Given the description of an element on the screen output the (x, y) to click on. 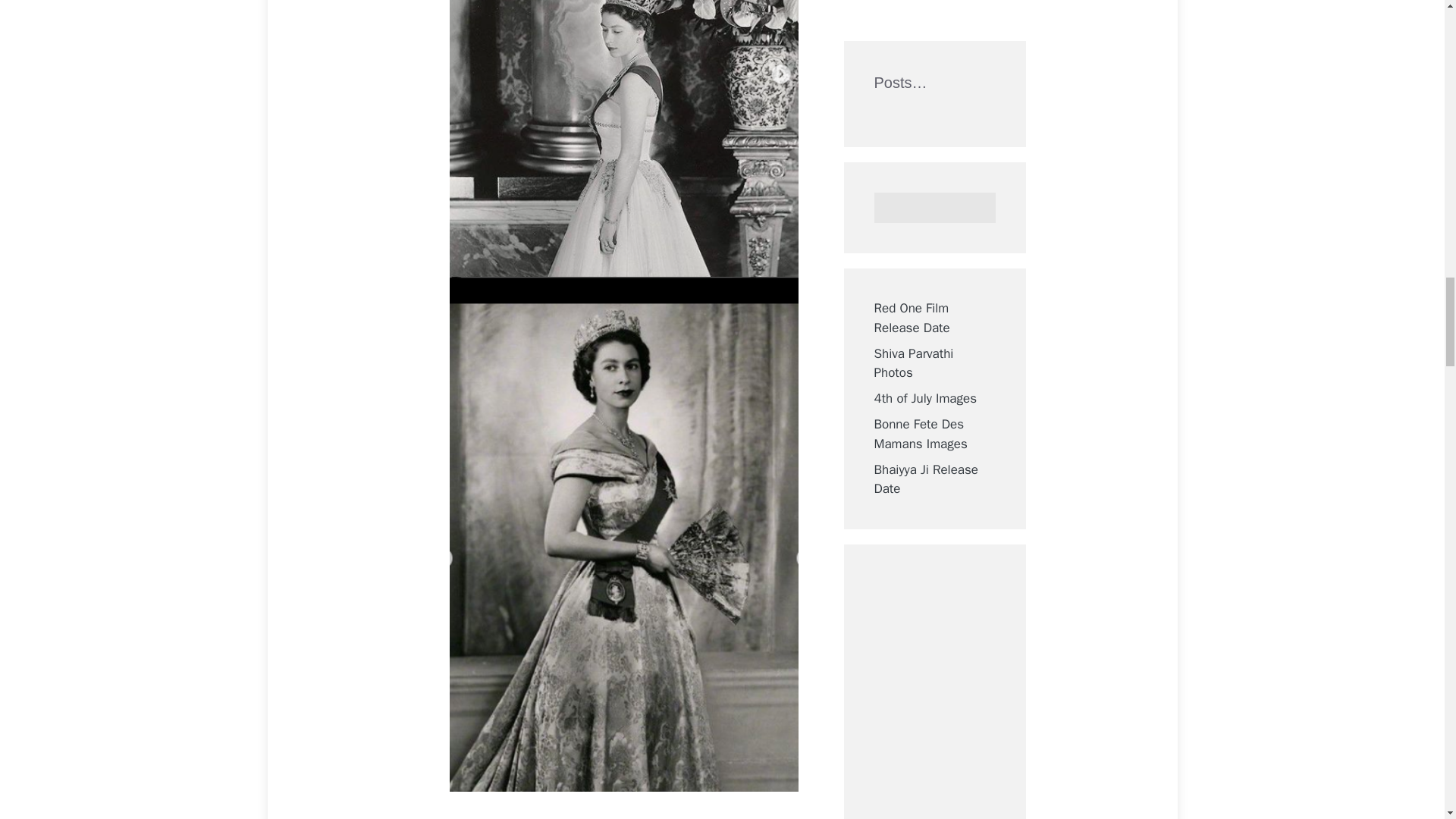
Queen Elizabeth Images 4 (622, 138)
